Given the description of an element on the screen output the (x, y) to click on. 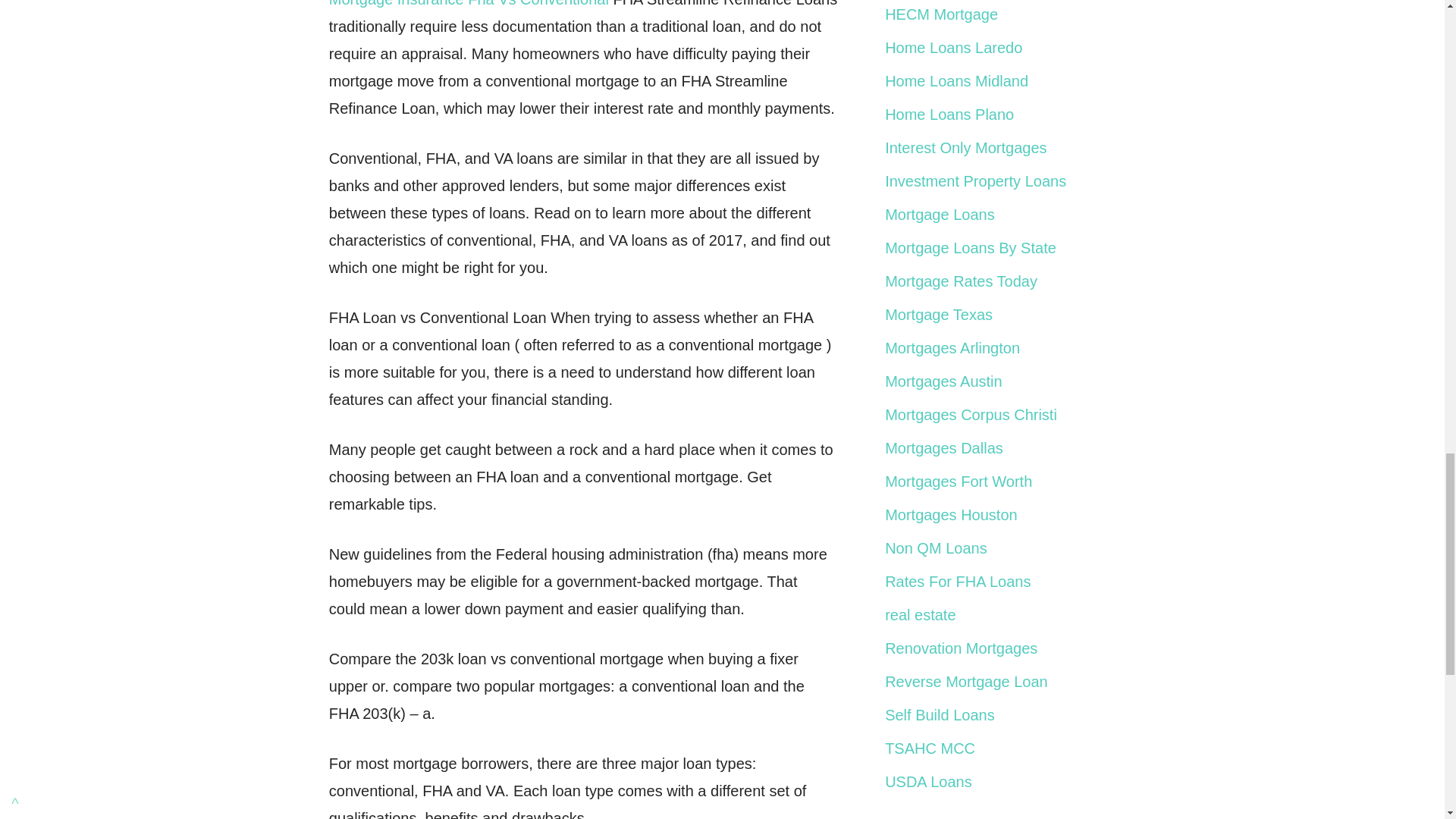
Mortgage Insurance Fha Vs Conventional (468, 3)
HECM Mortgage (941, 13)
